Given the description of an element on the screen output the (x, y) to click on. 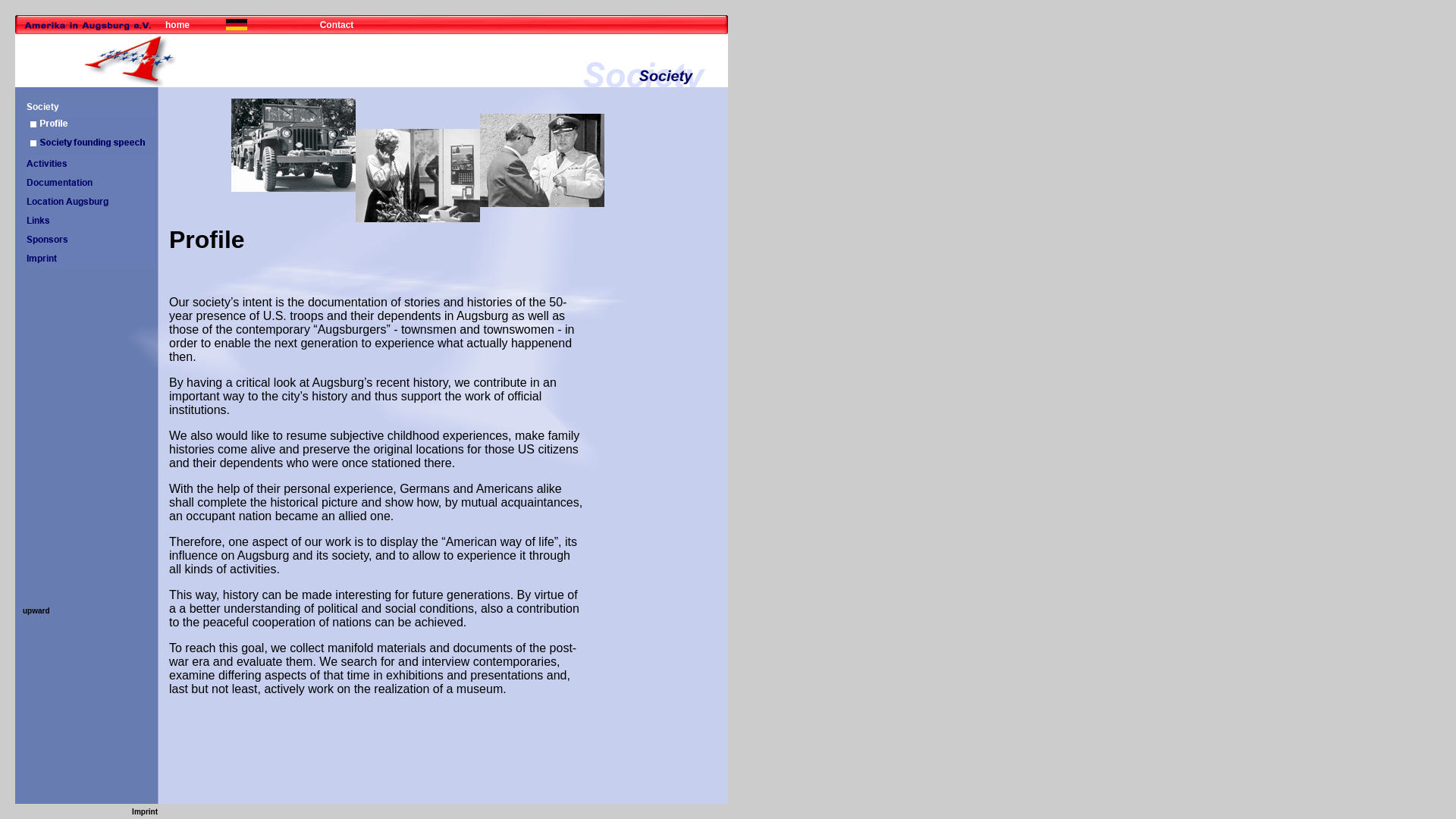
upward (36, 610)
Imprint (144, 810)
home (177, 24)
Contact (336, 24)
